Given the description of an element on the screen output the (x, y) to click on. 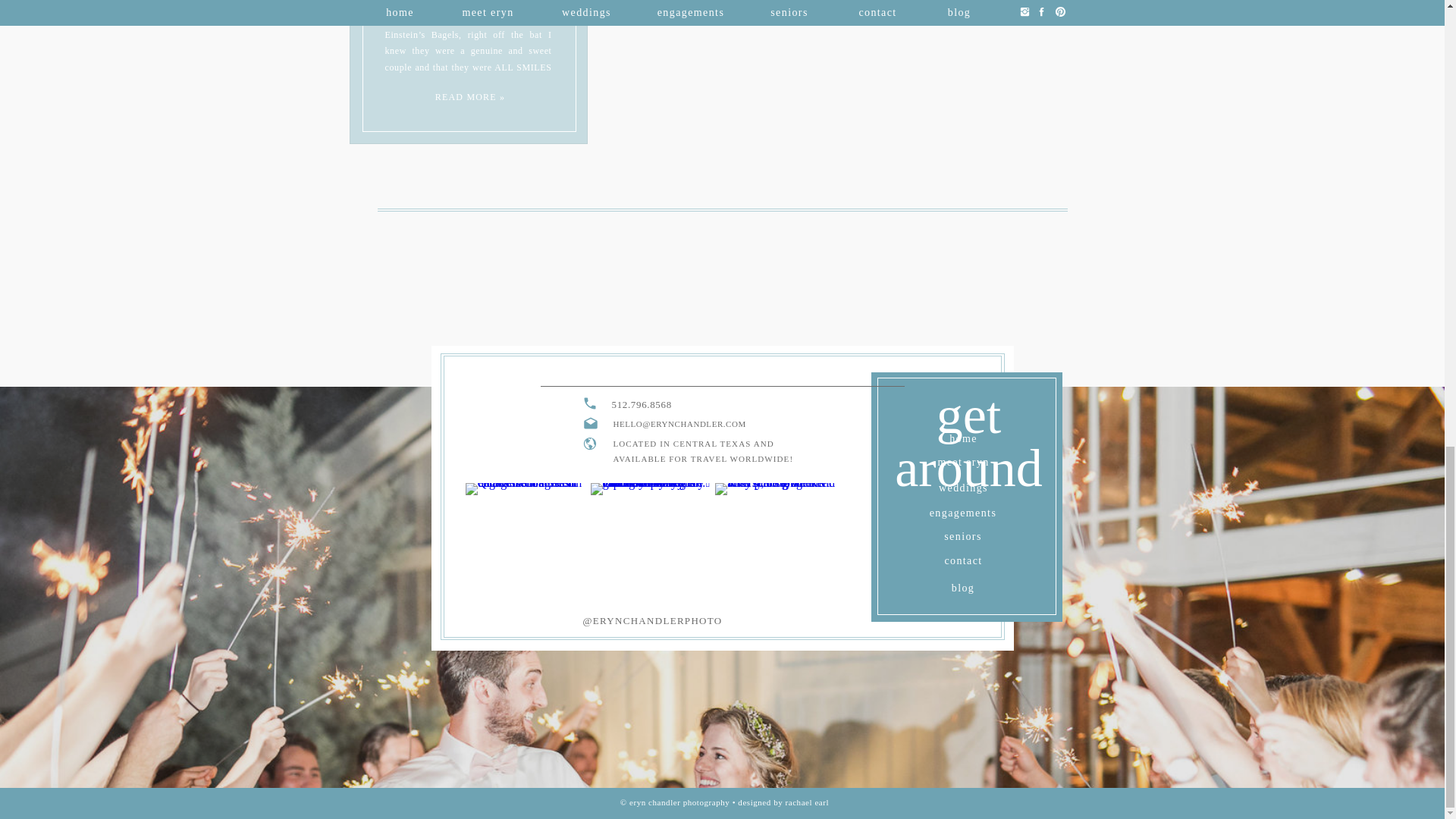
engagements (962, 510)
contact (963, 558)
seniors (962, 534)
blog (962, 585)
512.796.8568 (709, 404)
home (962, 436)
weddings (963, 485)
meet eryn (963, 459)
